Given the description of an element on the screen output the (x, y) to click on. 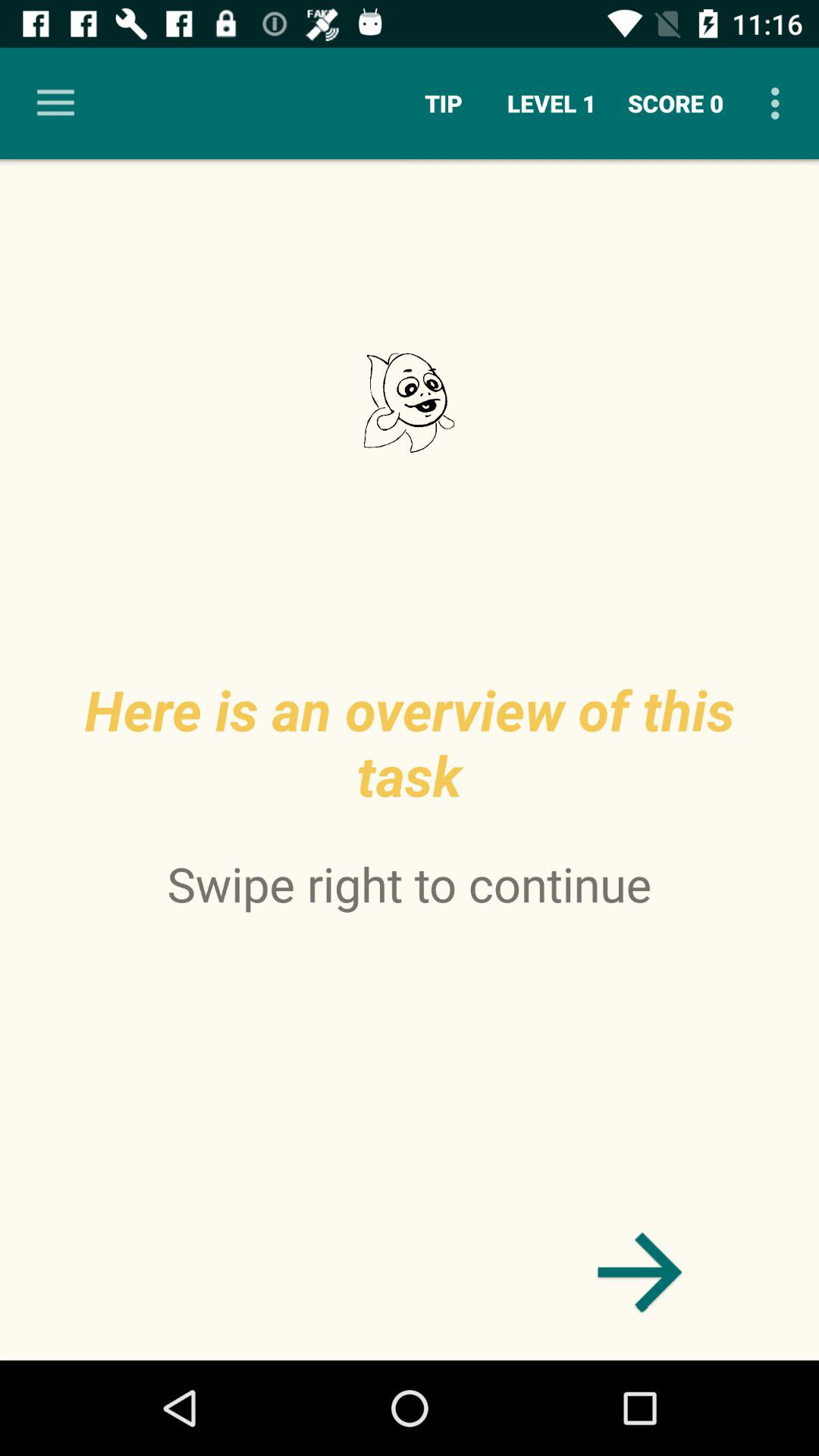
swipe until score 0 item (675, 103)
